Given the description of an element on the screen output the (x, y) to click on. 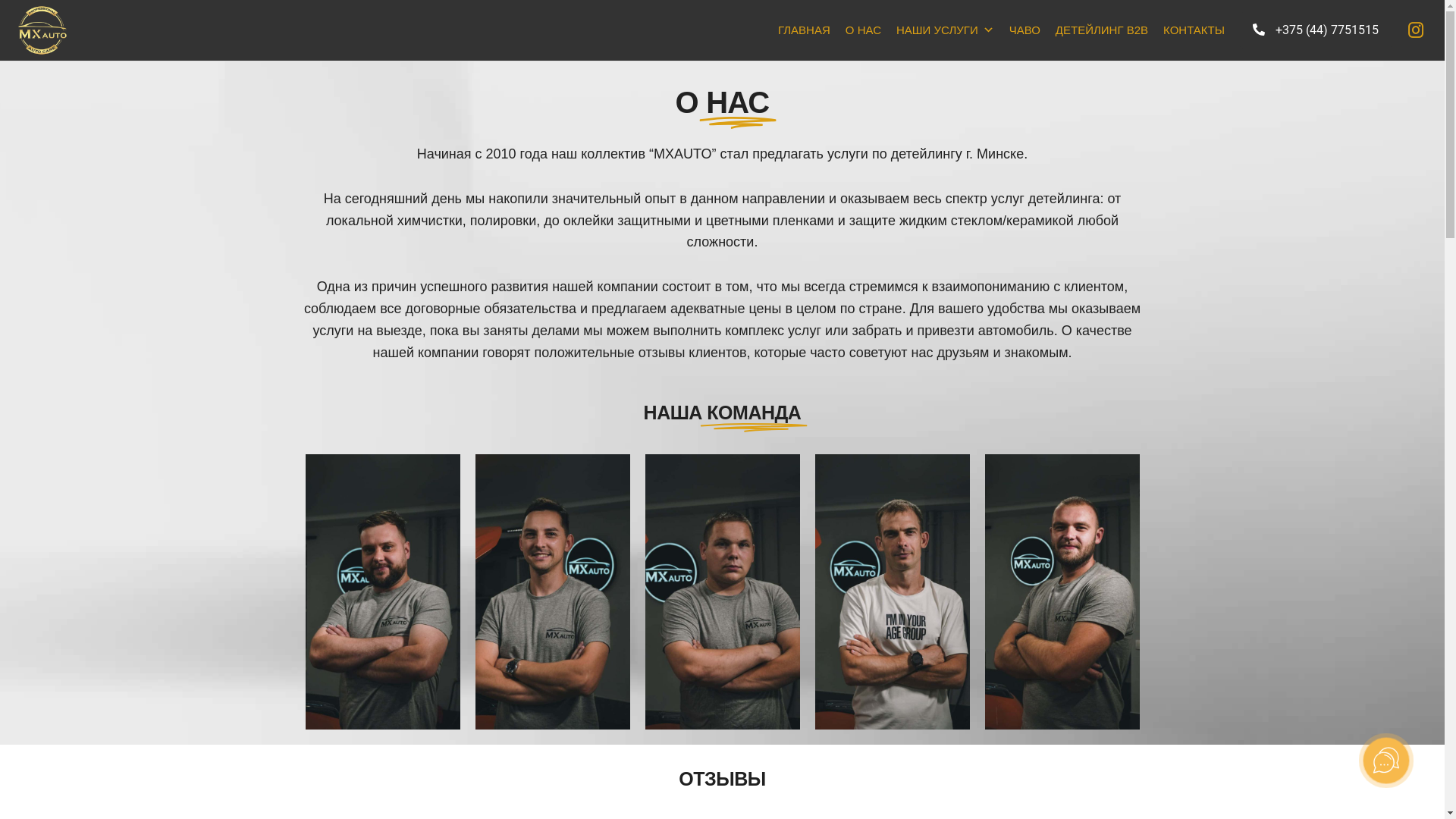
+375 (44) 7751515 Element type: text (1315, 30)
+375 (44) 7751515 Element type: text (1315, 29)
